Given the description of an element on the screen output the (x, y) to click on. 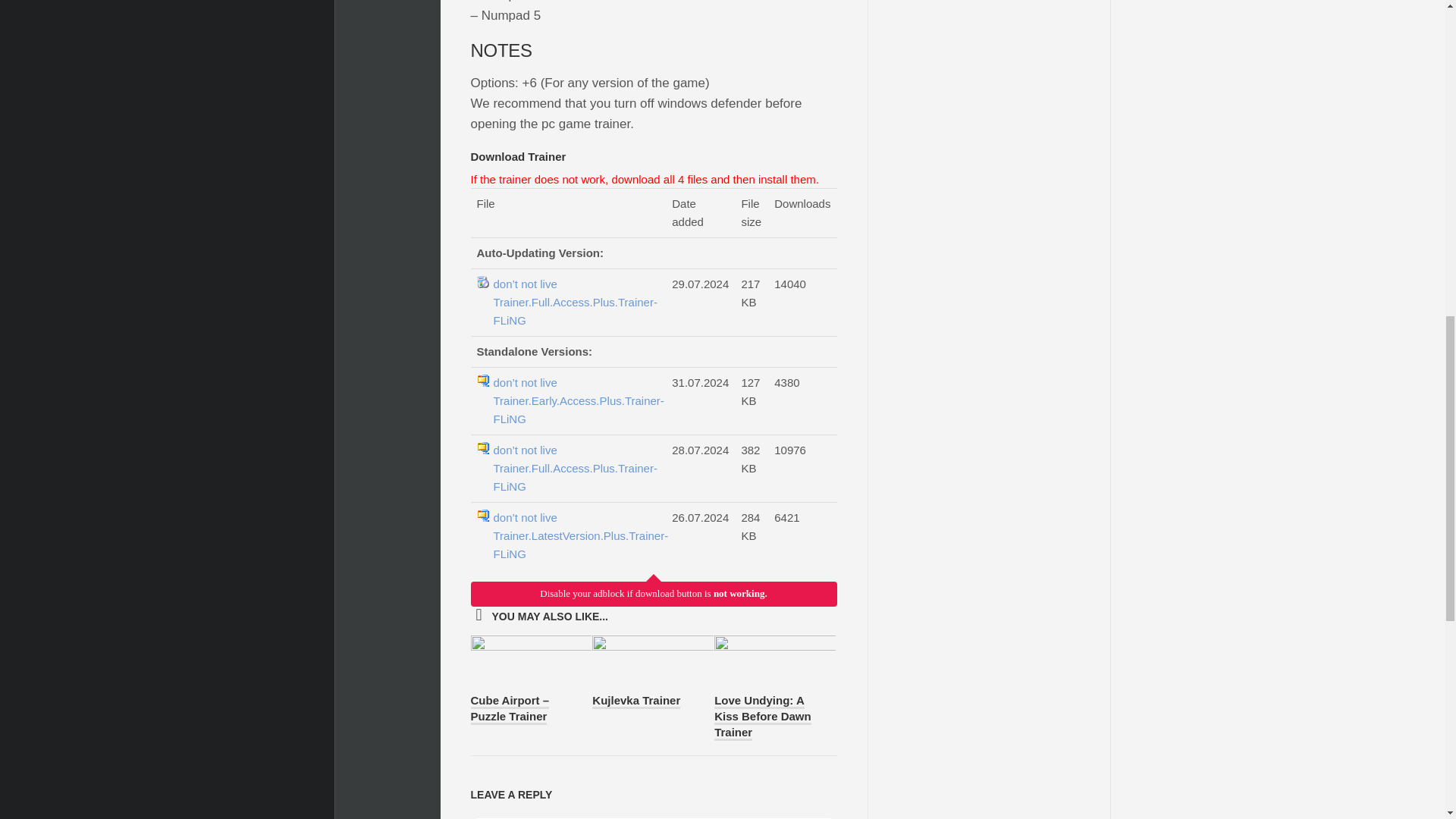
Love Undying: A Kiss Before Dawn Trainer (762, 717)
Kujlevka Trainer (635, 701)
